Given the description of an element on the screen output the (x, y) to click on. 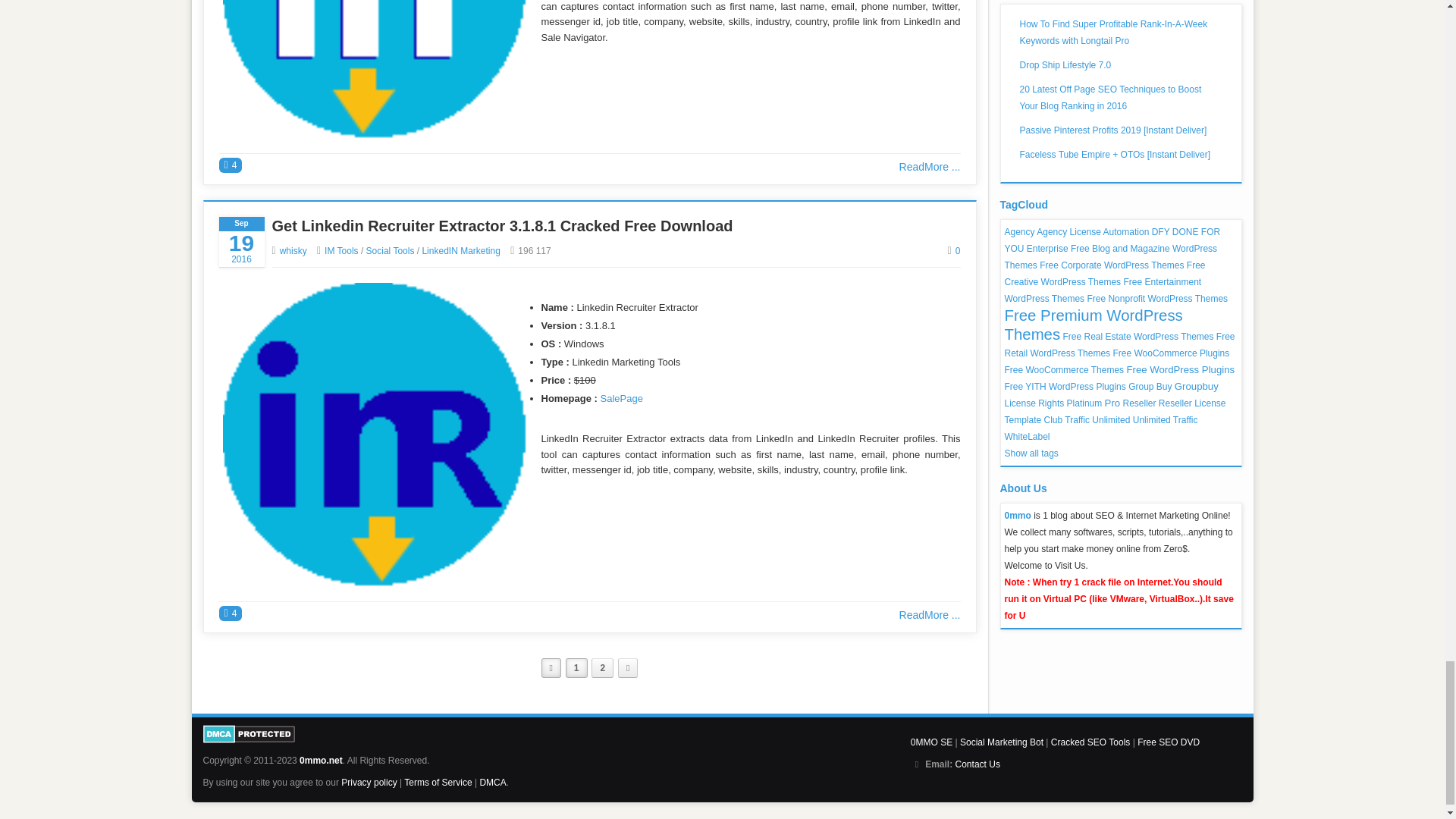
LinkedIn Sale Navigator Extractor 3.1.8.1 (373, 69)
Linkedin Recruiter Extractor 3.1.8.1 (373, 434)
